Given the description of an element on the screen output the (x, y) to click on. 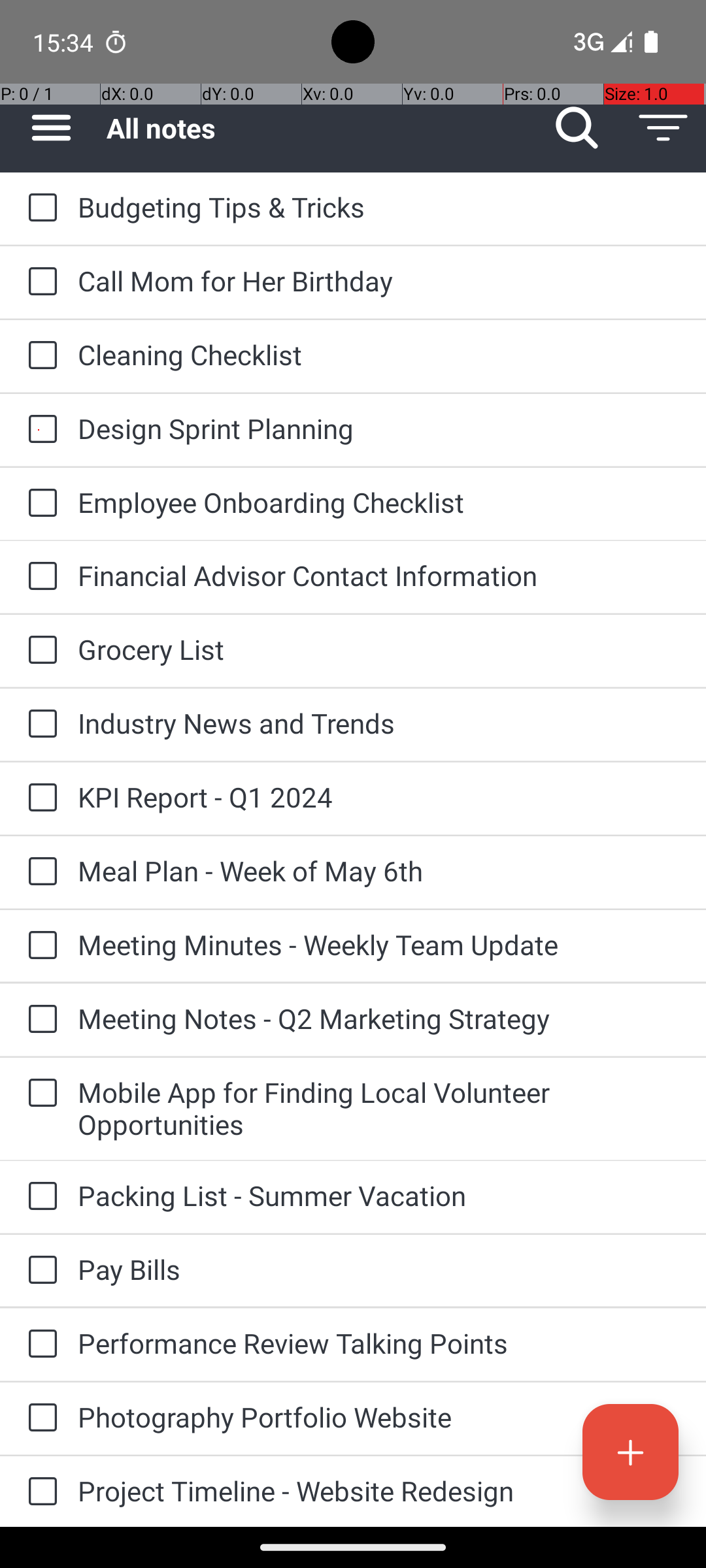
to-do: Budgeting Tips & Tricks Element type: android.widget.CheckBox (38, 208)
to-do: Call Mom for Her Birthday Element type: android.widget.CheckBox (38, 282)
Call Mom for Her Birthday Element type: android.widget.TextView (378, 280)
to-do: Cleaning Checklist Element type: android.widget.CheckBox (38, 356)
Cleaning Checklist Element type: android.widget.TextView (378, 354)
to-do: Design Sprint Planning Element type: android.widget.CheckBox (38, 429)
Design Sprint Planning Element type: android.widget.TextView (378, 427)
to-do: Employee Onboarding Checklist Element type: android.widget.CheckBox (38, 503)
Employee Onboarding Checklist Element type: android.widget.TextView (378, 501)
to-do: Grocery List Element type: android.widget.CheckBox (38, 650)
to-do: Industry News and Trends Element type: android.widget.CheckBox (38, 724)
Industry News and Trends Element type: android.widget.TextView (378, 722)
to-do: KPI Report - Q1 2024 Element type: android.widget.CheckBox (38, 798)
KPI Report - Q1 2024 Element type: android.widget.TextView (378, 796)
to-do: Meal Plan - Week of May 6th Element type: android.widget.CheckBox (38, 872)
Meal Plan - Week of May 6th Element type: android.widget.TextView (378, 870)
to-do: Meeting Minutes - Weekly Team Update Element type: android.widget.CheckBox (38, 945)
Meeting Minutes - Weekly Team Update Element type: android.widget.TextView (378, 944)
to-do: Meeting Notes - Q2 Marketing Strategy Element type: android.widget.CheckBox (38, 1019)
Meeting Notes - Q2 Marketing Strategy Element type: android.widget.TextView (378, 1017)
to-do: Mobile App for Finding Local Volunteer Opportunities Element type: android.widget.CheckBox (38, 1093)
Mobile App for Finding Local Volunteer Opportunities Element type: android.widget.TextView (378, 1107)
to-do: Packing List - Summer Vacation Element type: android.widget.CheckBox (38, 1196)
Packing List - Summer Vacation Element type: android.widget.TextView (378, 1194)
to-do: Pay Bills Element type: android.widget.CheckBox (38, 1270)
Pay Bills Element type: android.widget.TextView (378, 1268)
to-do: Performance Review Talking Points Element type: android.widget.CheckBox (38, 1344)
Performance Review Talking Points Element type: android.widget.TextView (378, 1342)
to-do: Photography Portfolio Website Element type: android.widget.CheckBox (38, 1418)
Photography Portfolio Website Element type: android.widget.TextView (378, 1416)
to-do: Project Timeline - Website Redesign Element type: android.widget.CheckBox (38, 1491)
Project Timeline - Website Redesign Element type: android.widget.TextView (378, 1490)
